Given the description of an element on the screen output the (x, y) to click on. 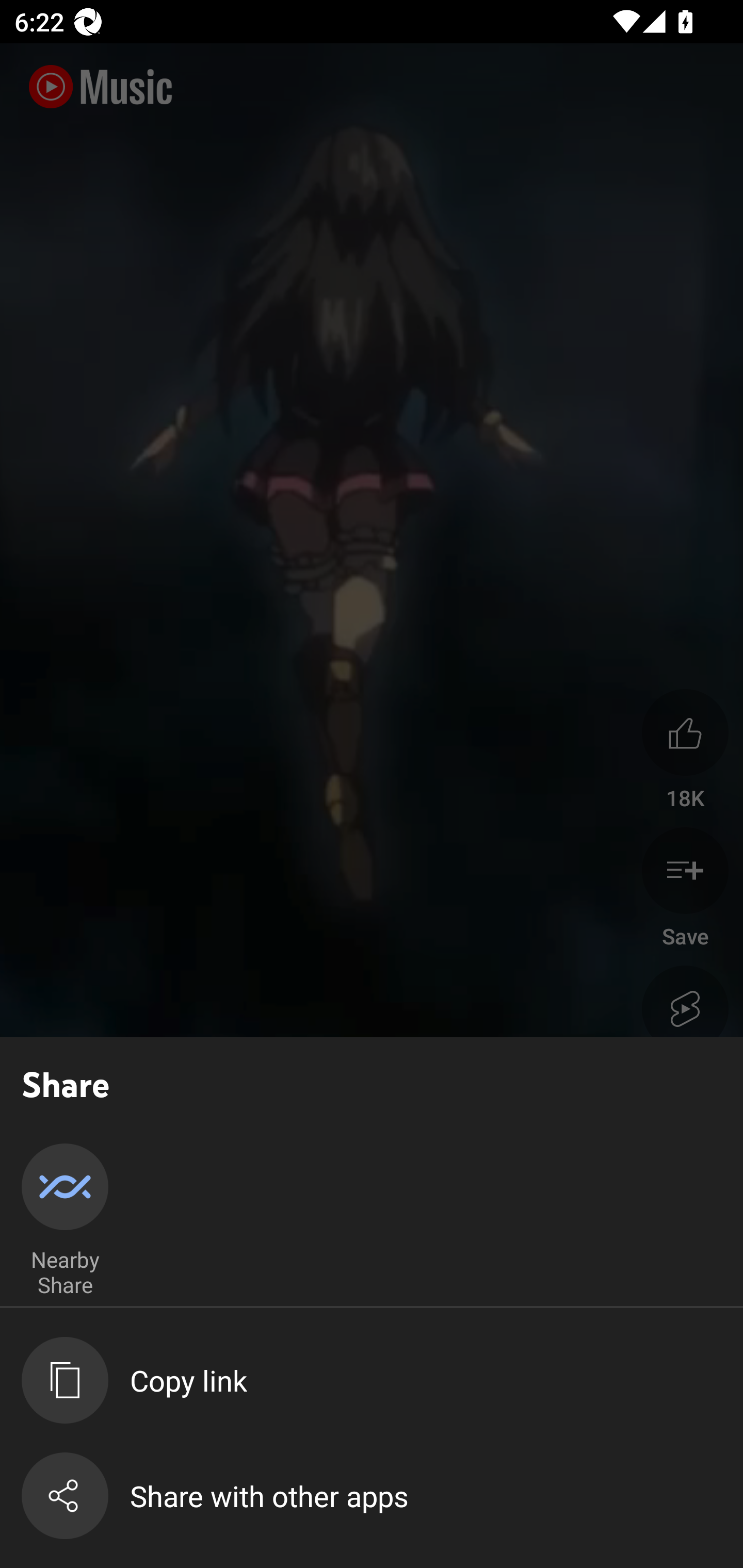
Nearby Share (64, 1221)
Copy link (382, 1380)
Share with other apps (382, 1495)
